Given the description of an element on the screen output the (x, y) to click on. 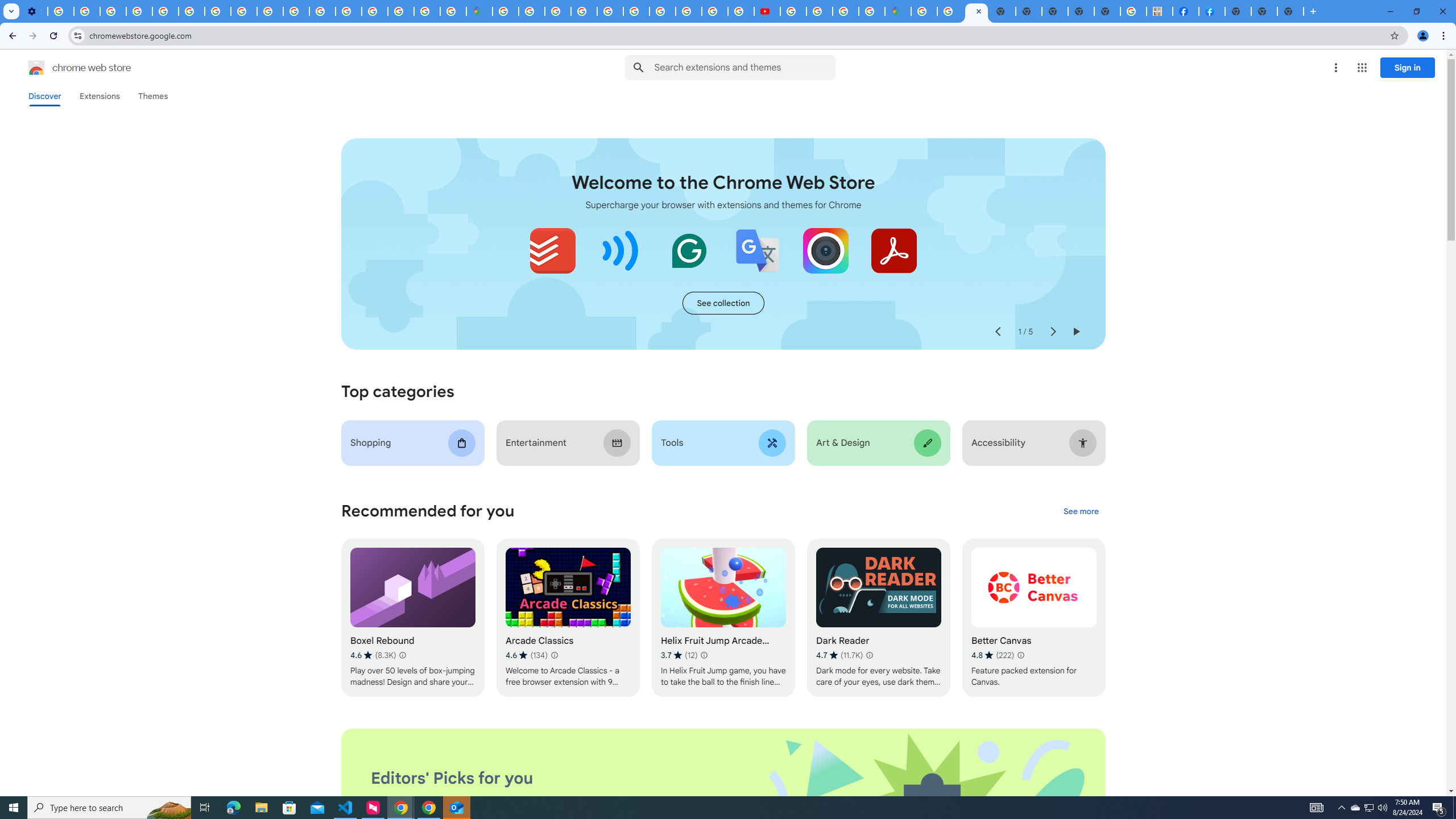
Google Maps (897, 11)
Average rating 4.8 out of 5 stars. 222 ratings. (992, 655)
Google Maps (479, 11)
New Tab (1290, 11)
Chrome Web Store logo chrome web store (67, 67)
Average rating 3.7 out of 5 stars. 12 ratings. (679, 655)
Address and search bar (735, 35)
Subscriptions - YouTube (766, 11)
Accessibility (1033, 443)
Tools (722, 443)
Awesome Screen Recorder & Screenshot (825, 250)
Themes (152, 95)
MILEY CYRUS. (1159, 11)
Extensions (99, 95)
